Given the description of an element on the screen output the (x, y) to click on. 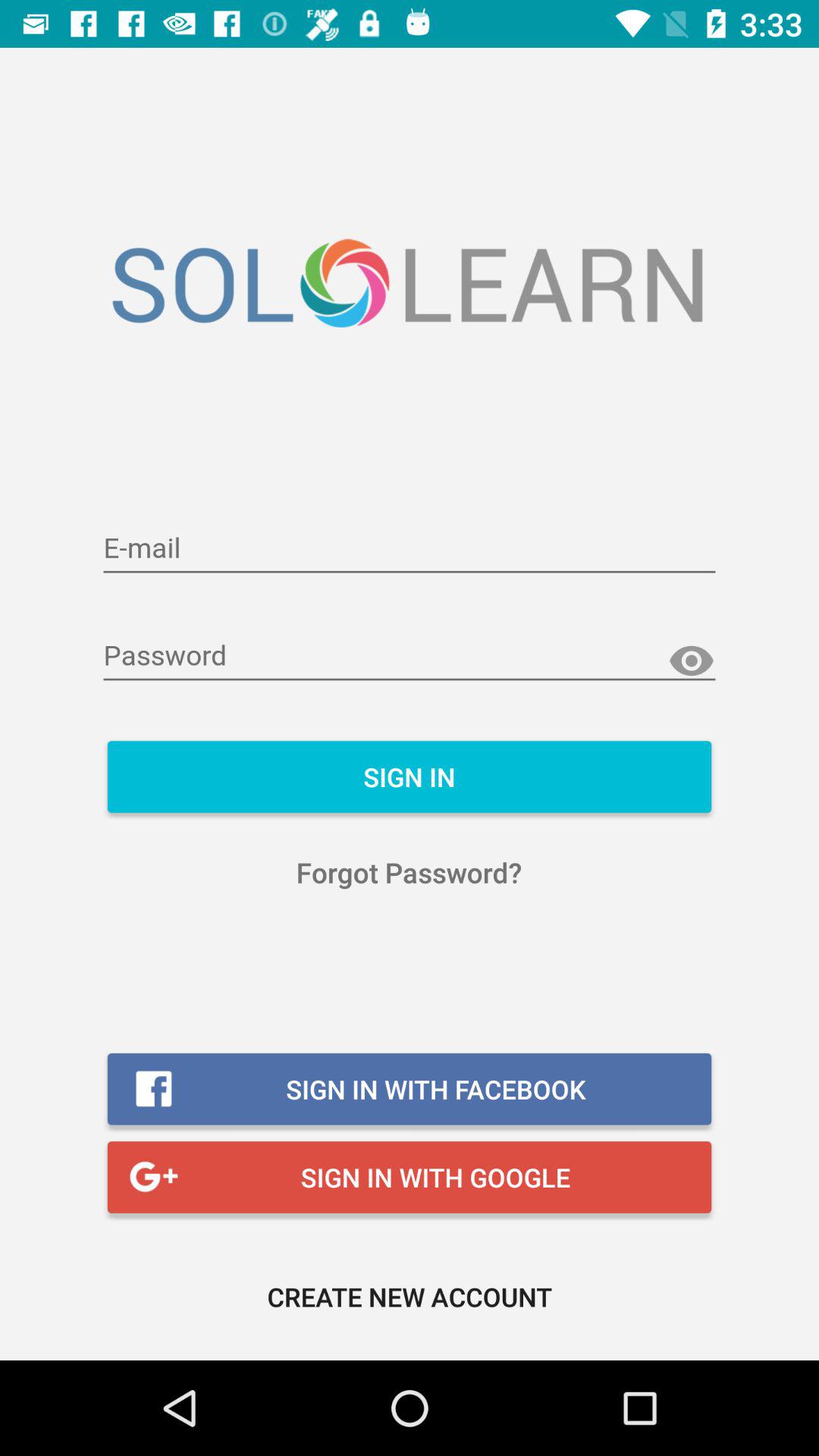
creat password (409, 656)
